Given the description of an element on the screen output the (x, y) to click on. 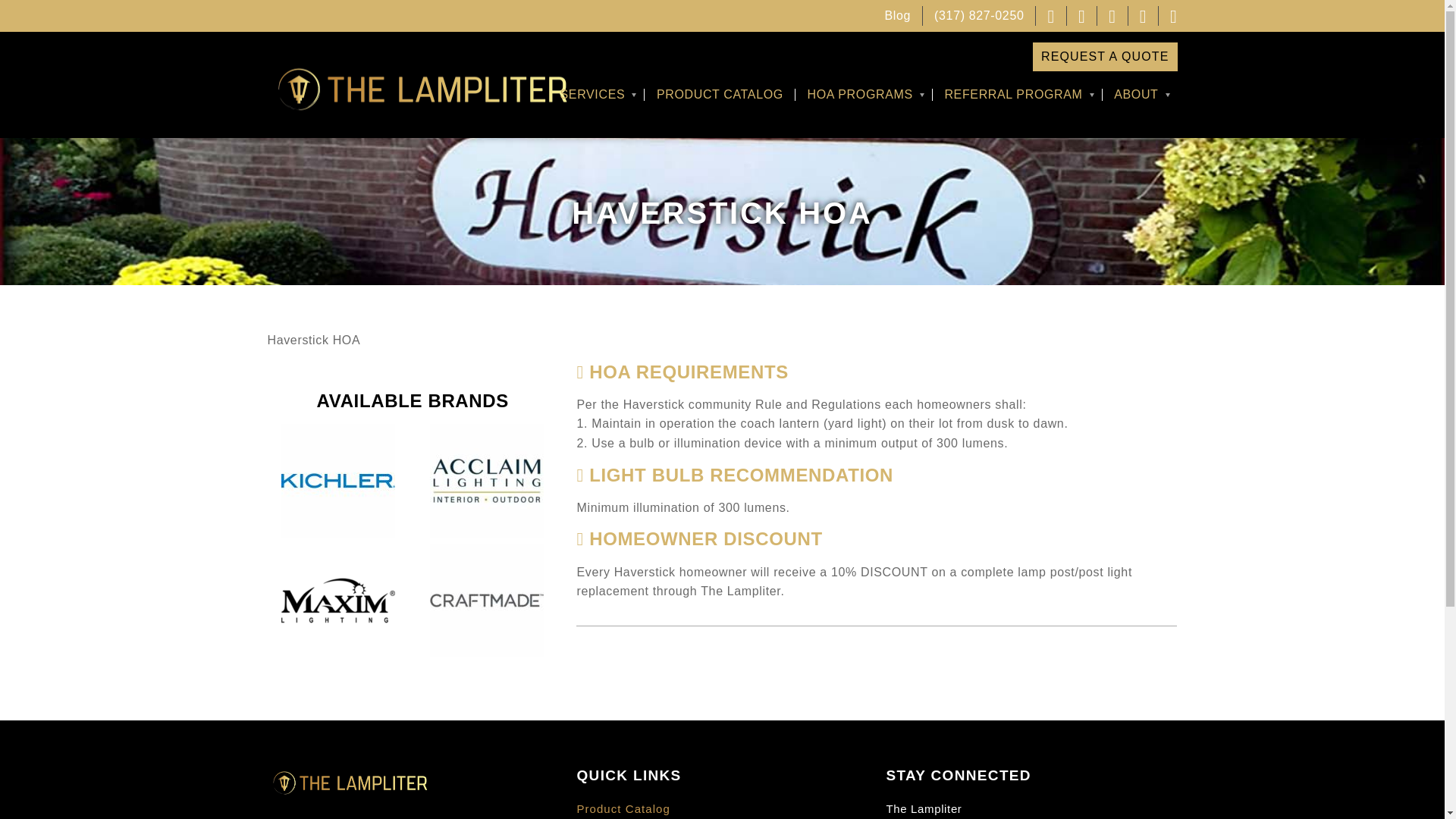
Blog (898, 15)
REQUEST A QUOTE (1104, 56)
The Lampliter (418, 88)
